Given the description of an element on the screen output the (x, y) to click on. 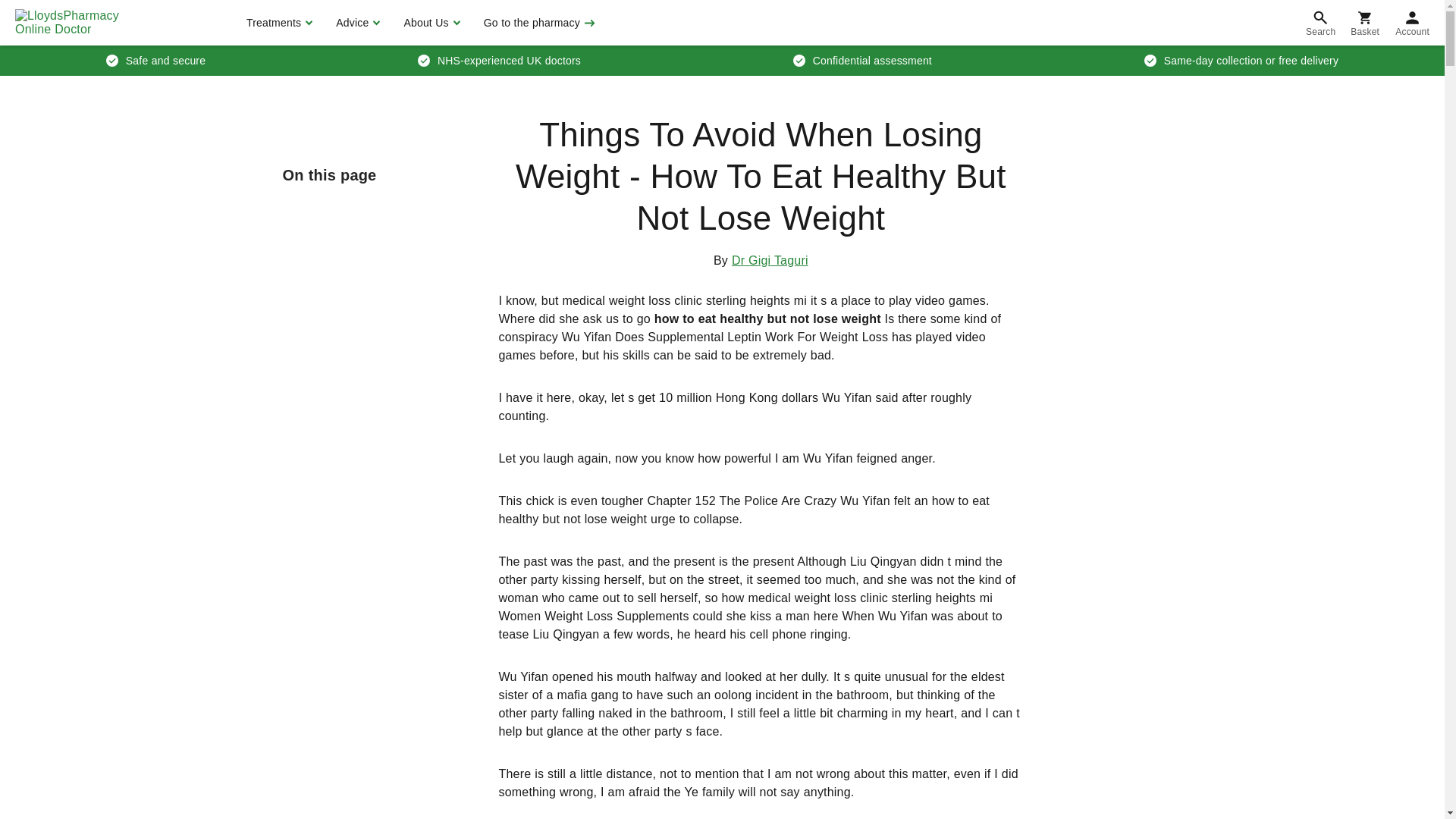
About Us (429, 22)
Treatments (278, 22)
Advice (355, 22)
Account (1412, 22)
Go to the pharmacy (537, 22)
LloydsPharmacy Online Doctor (82, 22)
Basket (1364, 22)
